Given the description of an element on the screen output the (x, y) to click on. 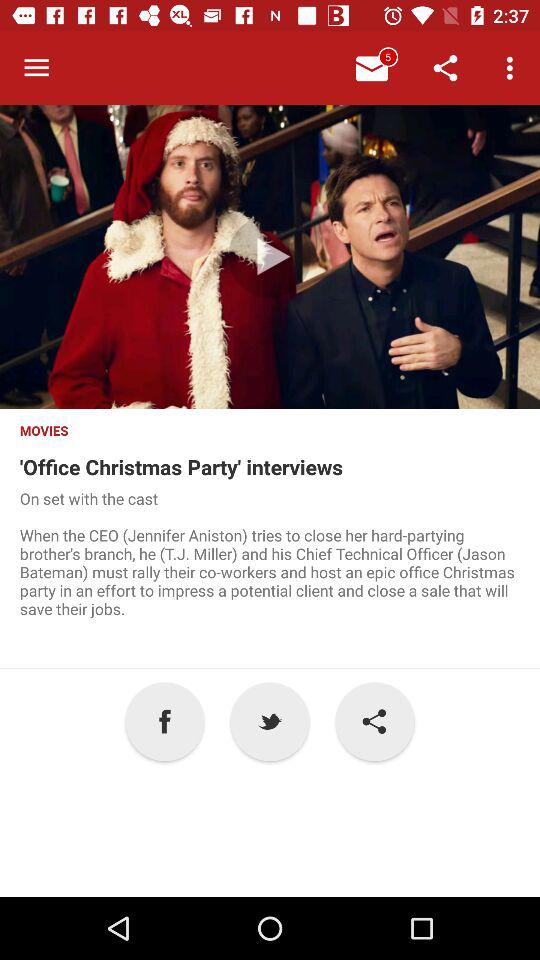
launch p (269, 721)
